Given the description of an element on the screen output the (x, y) to click on. 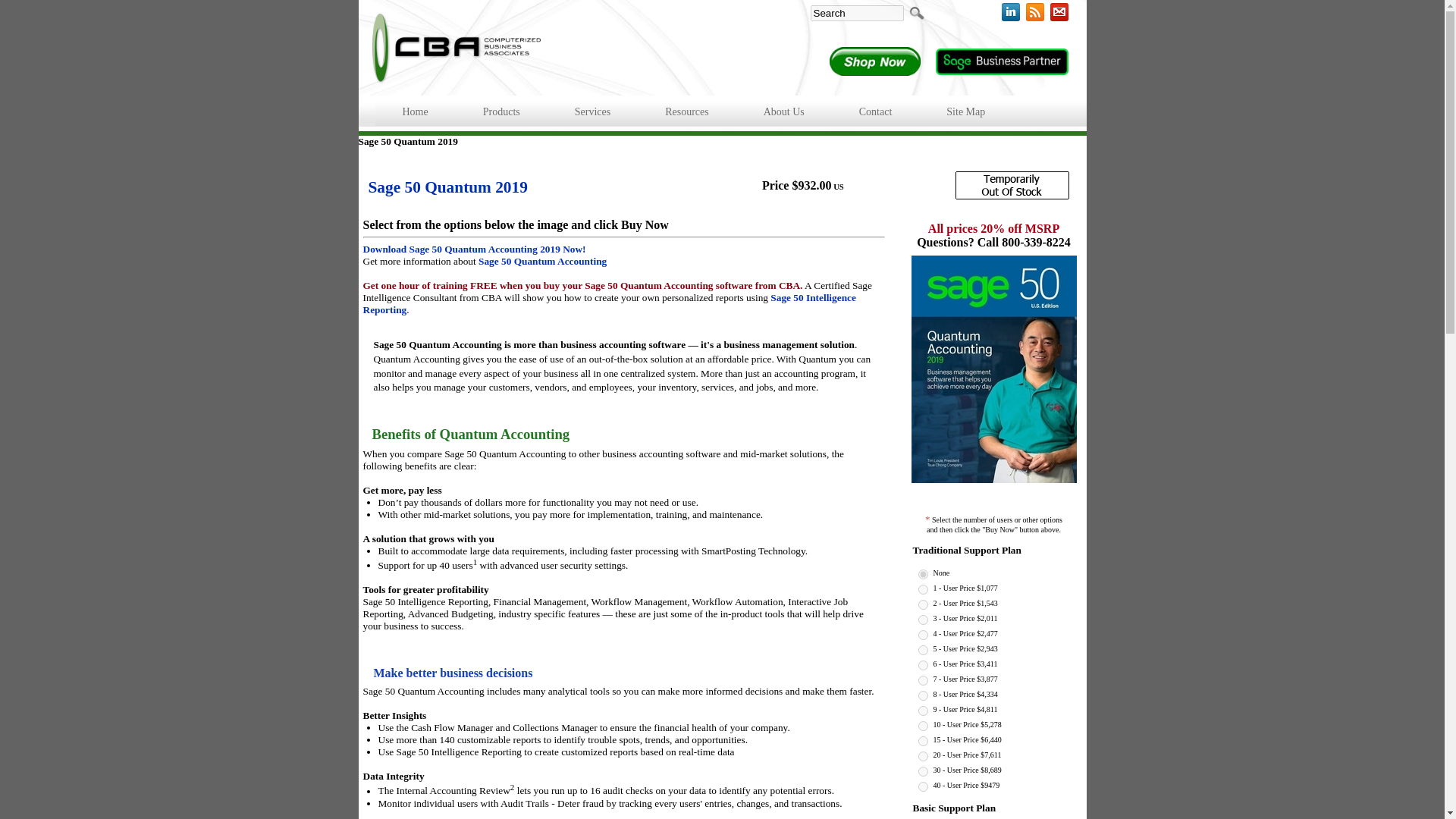
11 (922, 726)
5 (922, 634)
Email CBA (1058, 12)
Search our site! (917, 12)
Products (501, 111)
Resources (686, 111)
9 (922, 696)
4 (922, 619)
Search (855, 12)
7 (922, 665)
Home (414, 111)
Download Sage 50 Quantum Accounting (473, 248)
2 (922, 589)
13 (922, 756)
6 (922, 650)
